Given the description of an element on the screen output the (x, y) to click on. 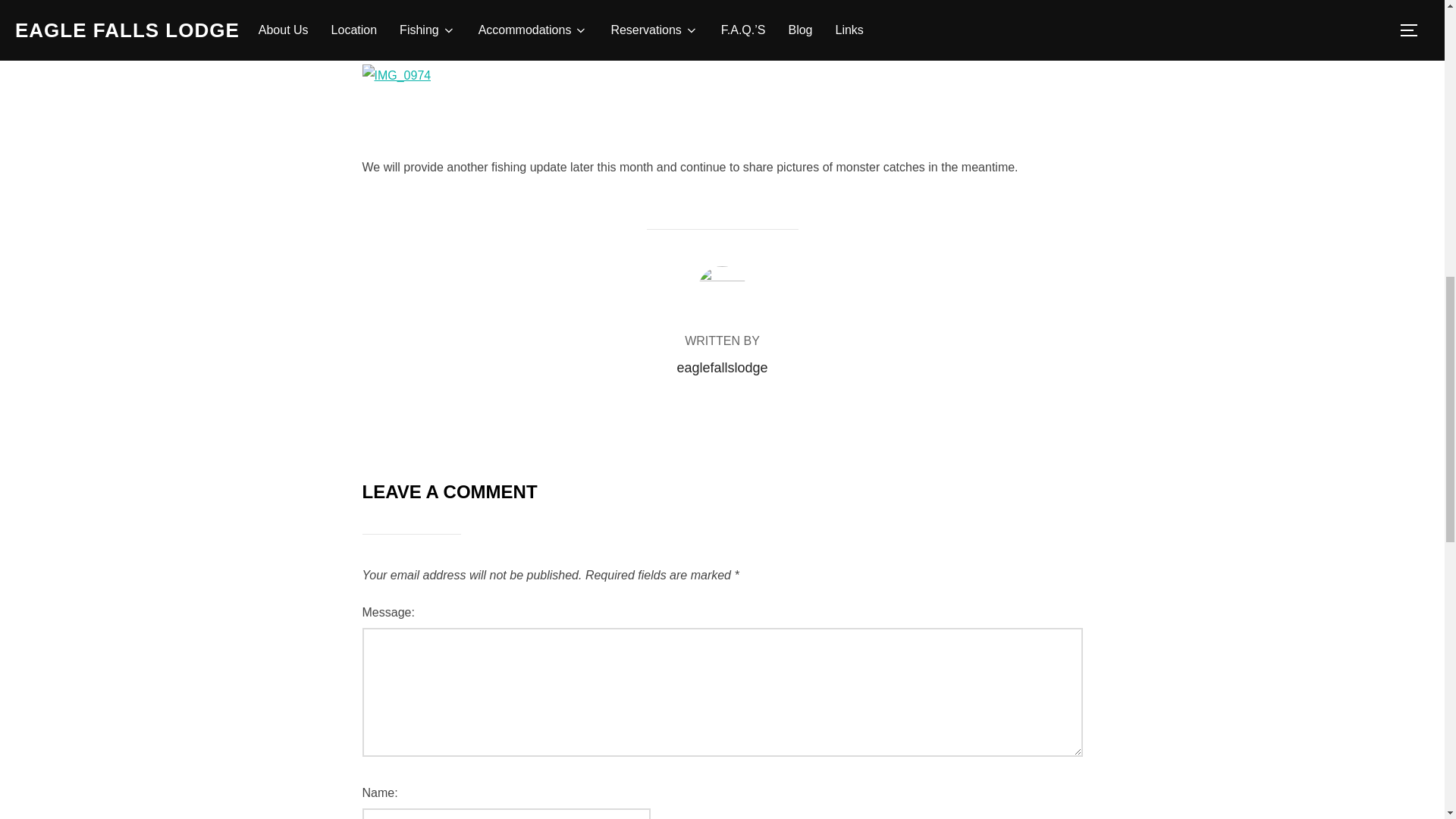
Posts by eaglefallslodge (722, 367)
